Given the description of an element on the screen output the (x, y) to click on. 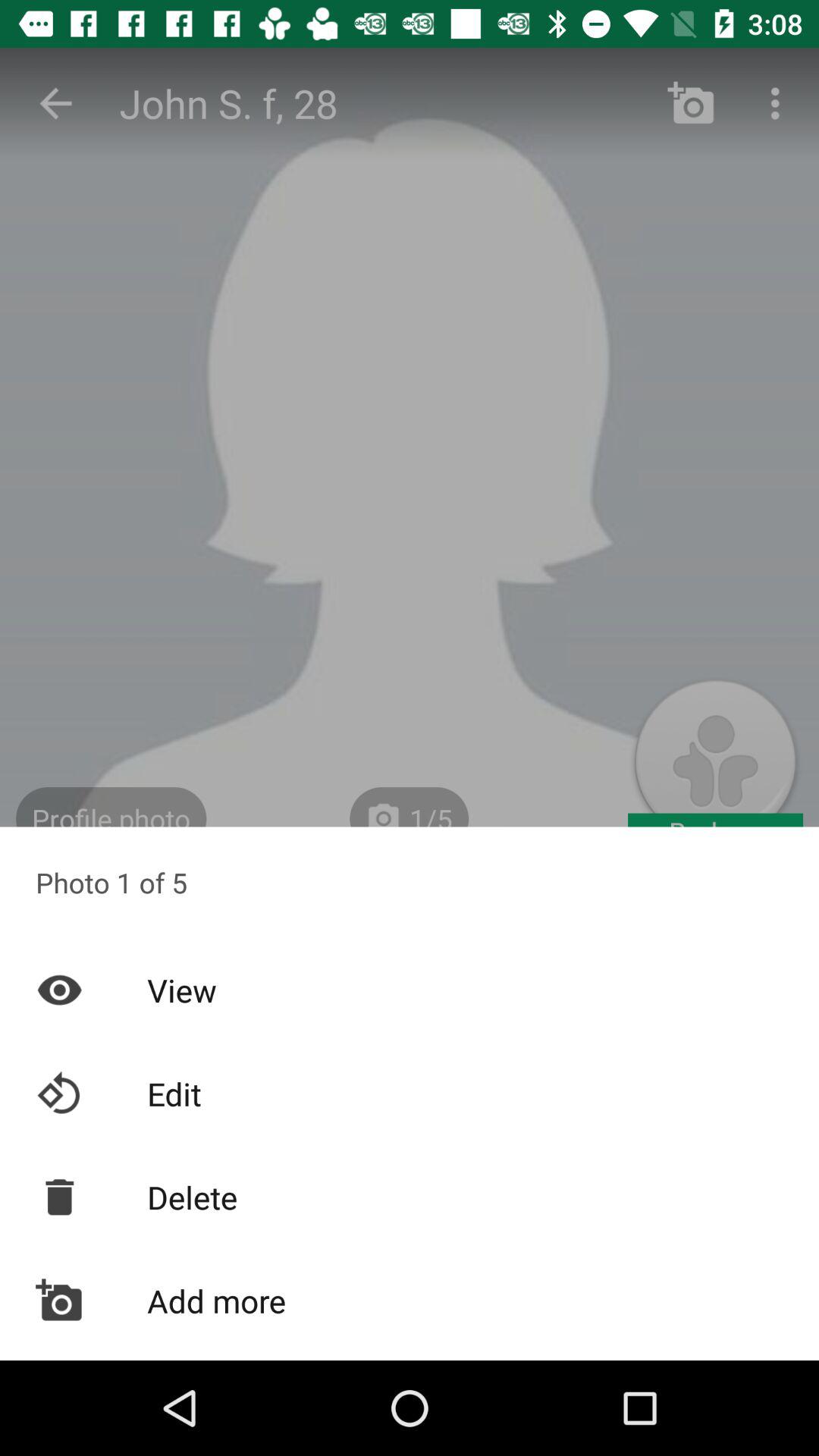
turn on the add more (409, 1300)
